Given the description of an element on the screen output the (x, y) to click on. 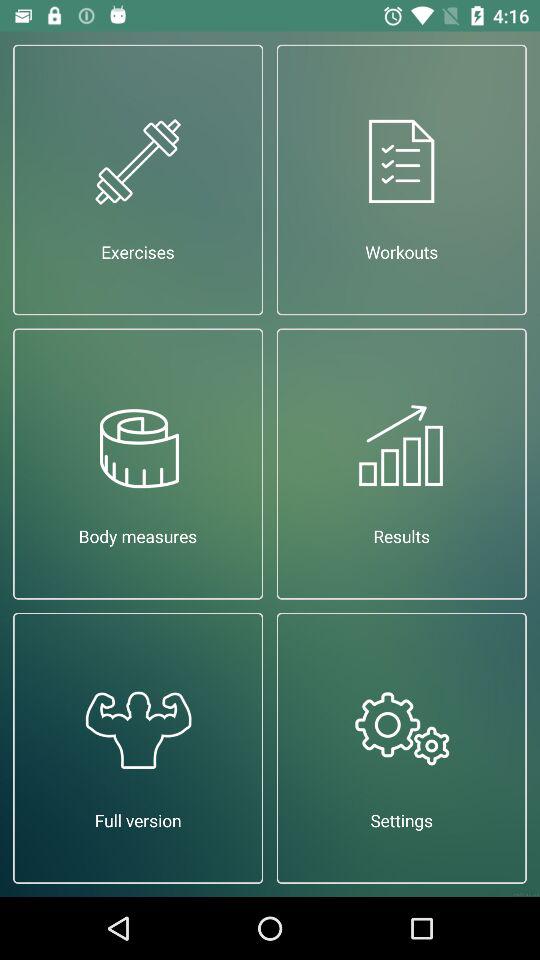
open icon next to settings app (137, 748)
